Given the description of an element on the screen output the (x, y) to click on. 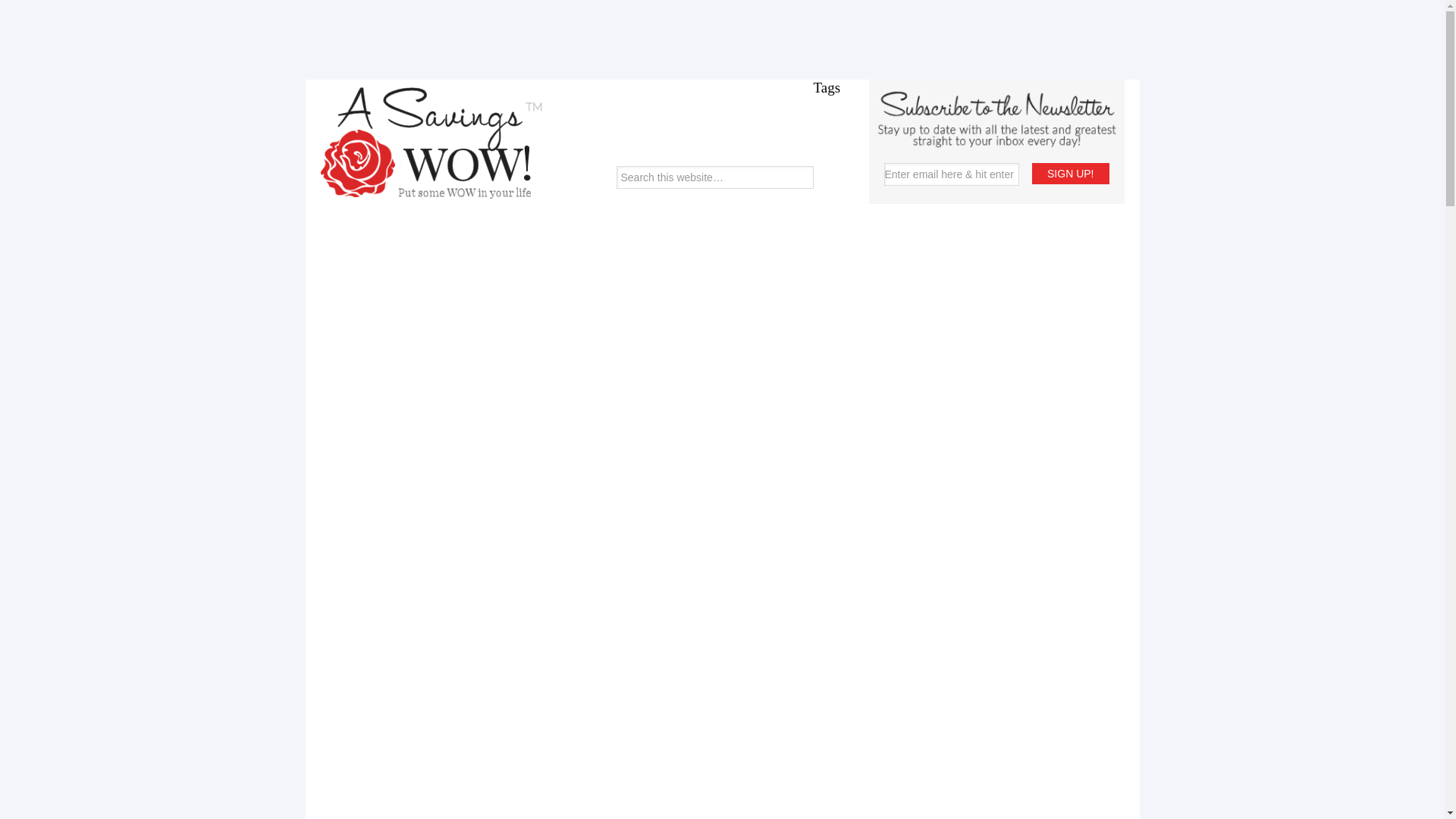
CVS (866, 332)
magazines (866, 702)
Kindle (866, 667)
Mission Giveaway (866, 738)
free shipping (866, 483)
Breakfast (866, 223)
Sign Up! (1070, 173)
Dominick's (866, 375)
Household (866, 608)
free (866, 461)
linky (866, 685)
coupons (866, 305)
family (866, 394)
Chicago-area (866, 259)
daily deal (866, 354)
